Given the description of an element on the screen output the (x, y) to click on. 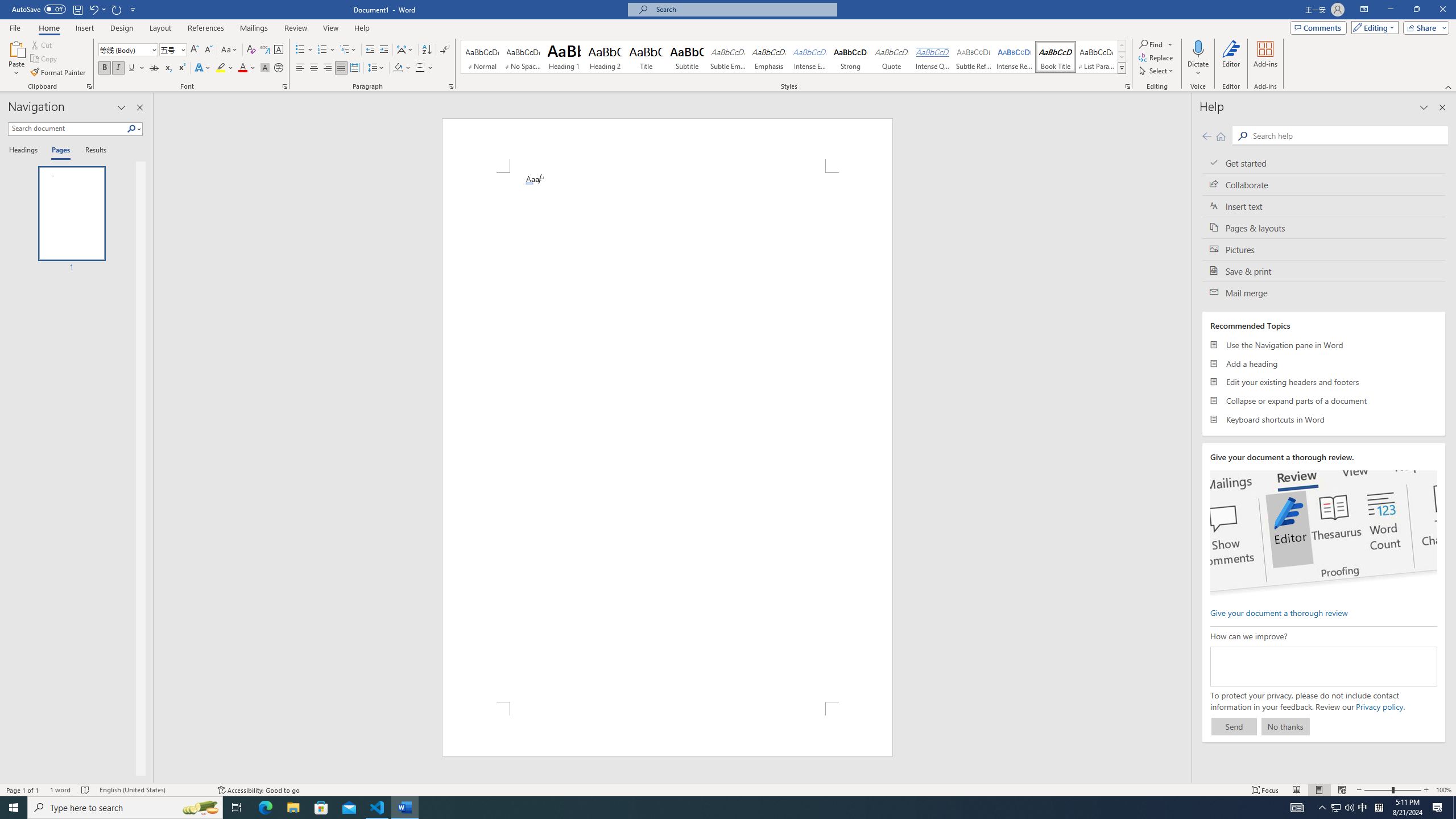
editor ui screenshot (1323, 533)
Strong (849, 56)
Microsoft search (742, 9)
